Given the description of an element on the screen output the (x, y) to click on. 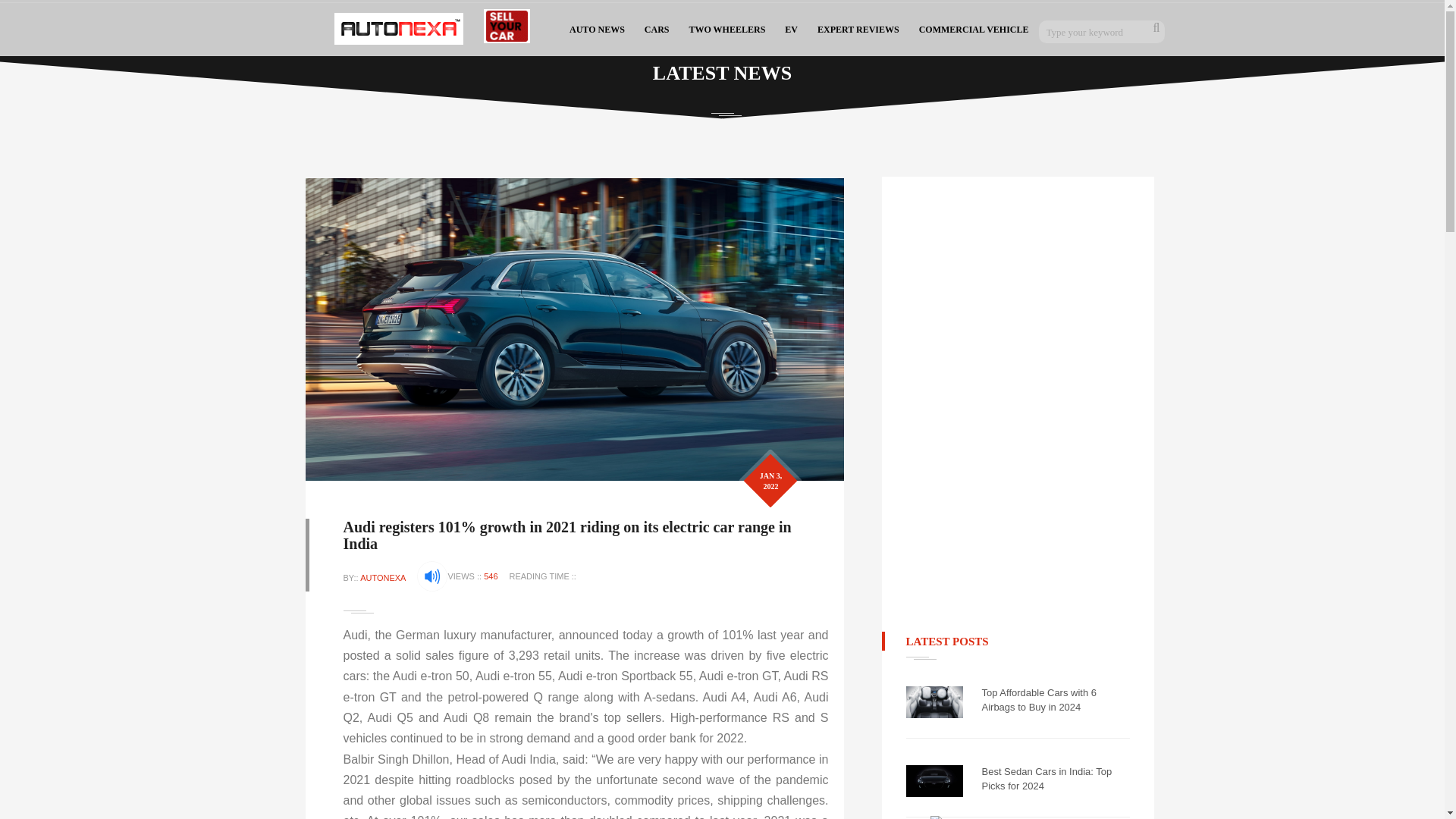
546 (490, 575)
EXPERT REVIEWS (858, 28)
Best Sedan Cars in India: Top Picks for 2024 (1055, 778)
COMMERCIAL VEHICLE (973, 28)
TWO WHEELERS (727, 28)
AUTONEXA (382, 577)
Top Affordable Cars with 6 Airbags to Buy in 2024 (1055, 700)
CARS (656, 28)
AUTO NEWS (596, 28)
